Given the description of an element on the screen output the (x, y) to click on. 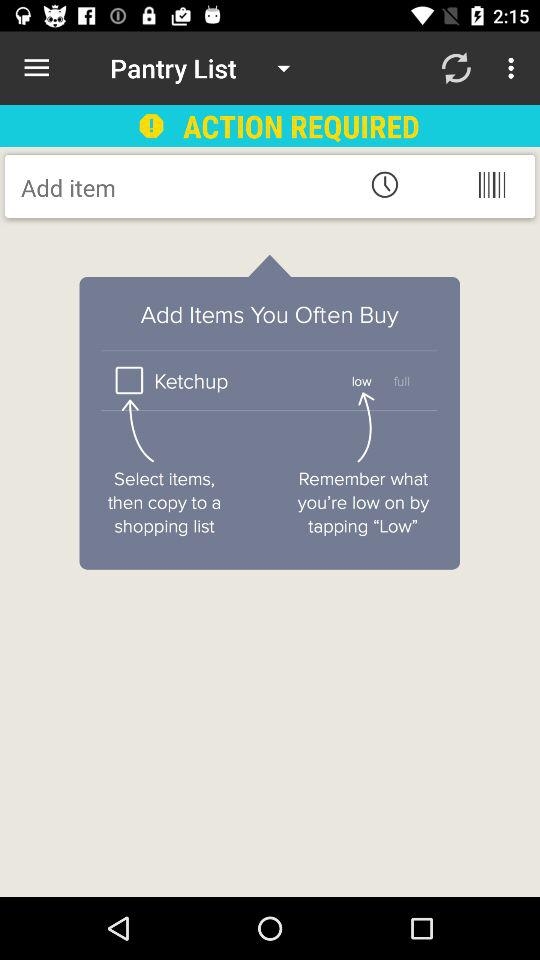
go to history (384, 184)
